Given the description of an element on the screen output the (x, y) to click on. 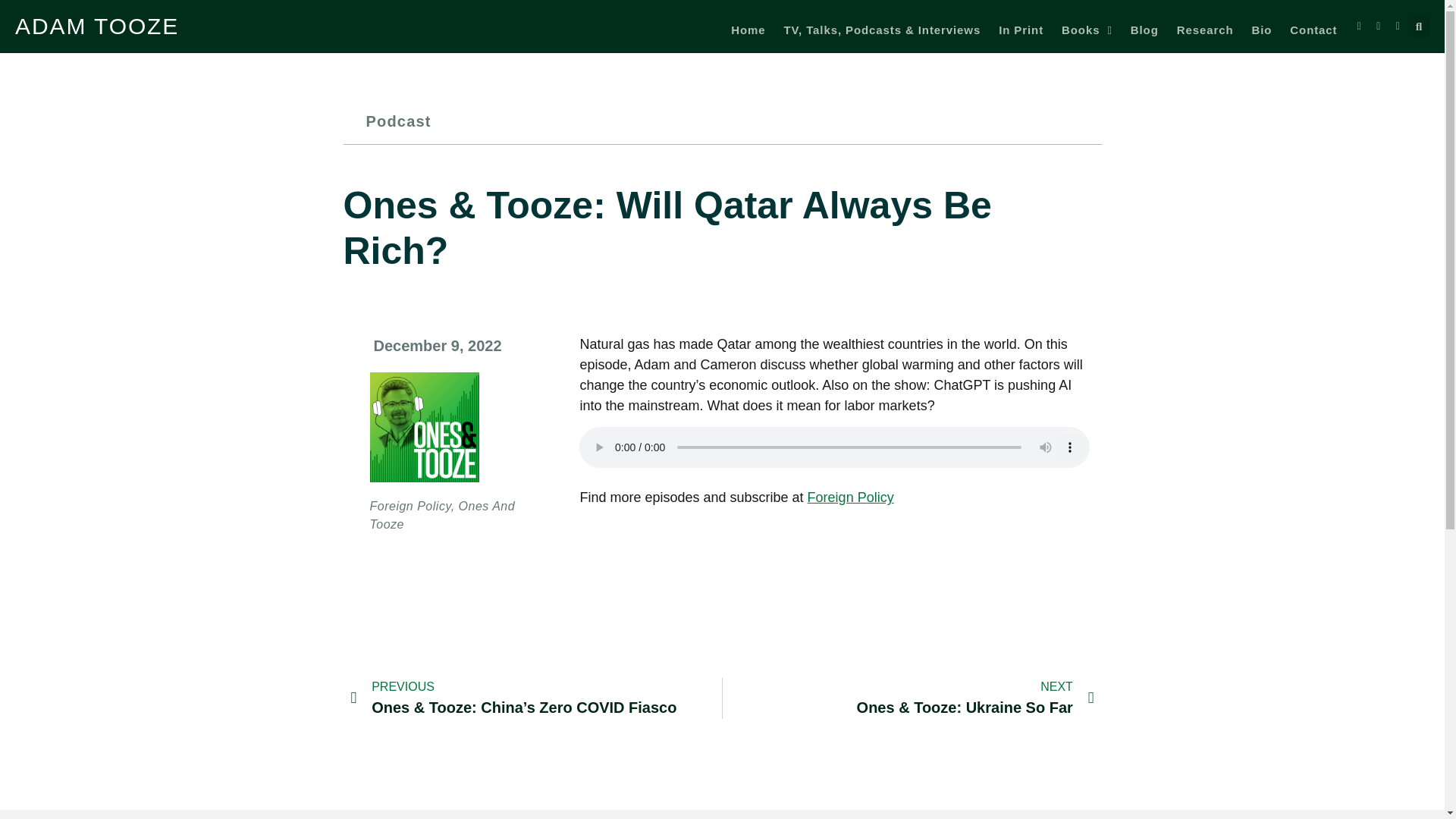
Bio (1260, 29)
Contact (1313, 29)
ADAM TOOZE (96, 25)
In Print (1020, 29)
Podcast (397, 121)
Foreign Policy (850, 497)
Books (1086, 29)
Blog (1144, 29)
Home (747, 29)
Research (1204, 29)
